Given the description of an element on the screen output the (x, y) to click on. 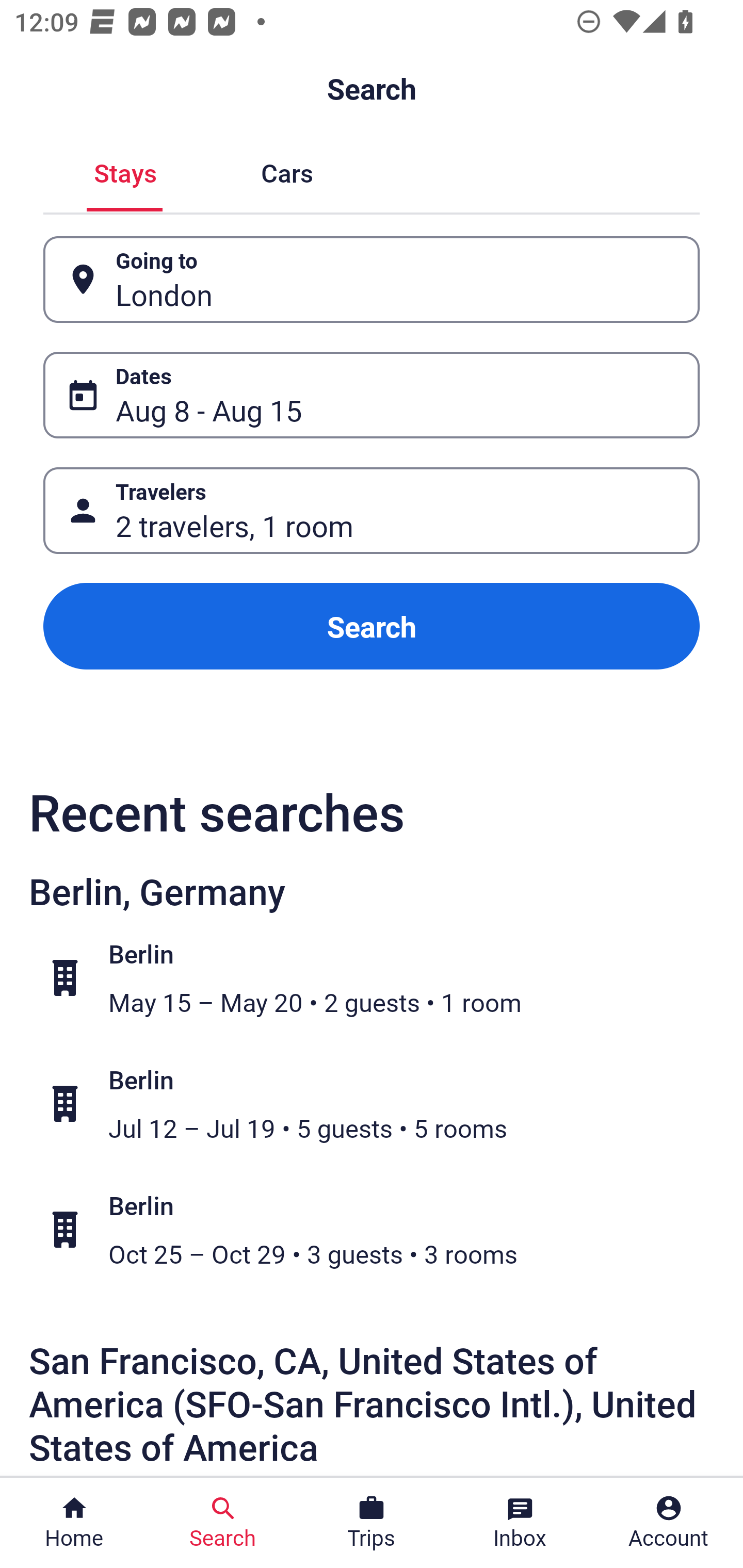
Cars (286, 171)
Going to Button London (371, 279)
Dates Button Aug 8 - Aug 15 (371, 395)
Travelers Button 2 travelers, 1 room (371, 510)
Search (371, 626)
Berlin May 15 – May 20 • 2 guests • 1 room (382, 978)
Berlin Jul 12 – Jul 19 • 5 guests • 5 rooms (382, 1103)
Berlin Oct 25 – Oct 29 • 3 guests • 3 rooms (382, 1229)
Home Home Button (74, 1522)
Trips Trips Button (371, 1522)
Inbox Inbox Button (519, 1522)
Account Profile. Button (668, 1522)
